Given the description of an element on the screen output the (x, y) to click on. 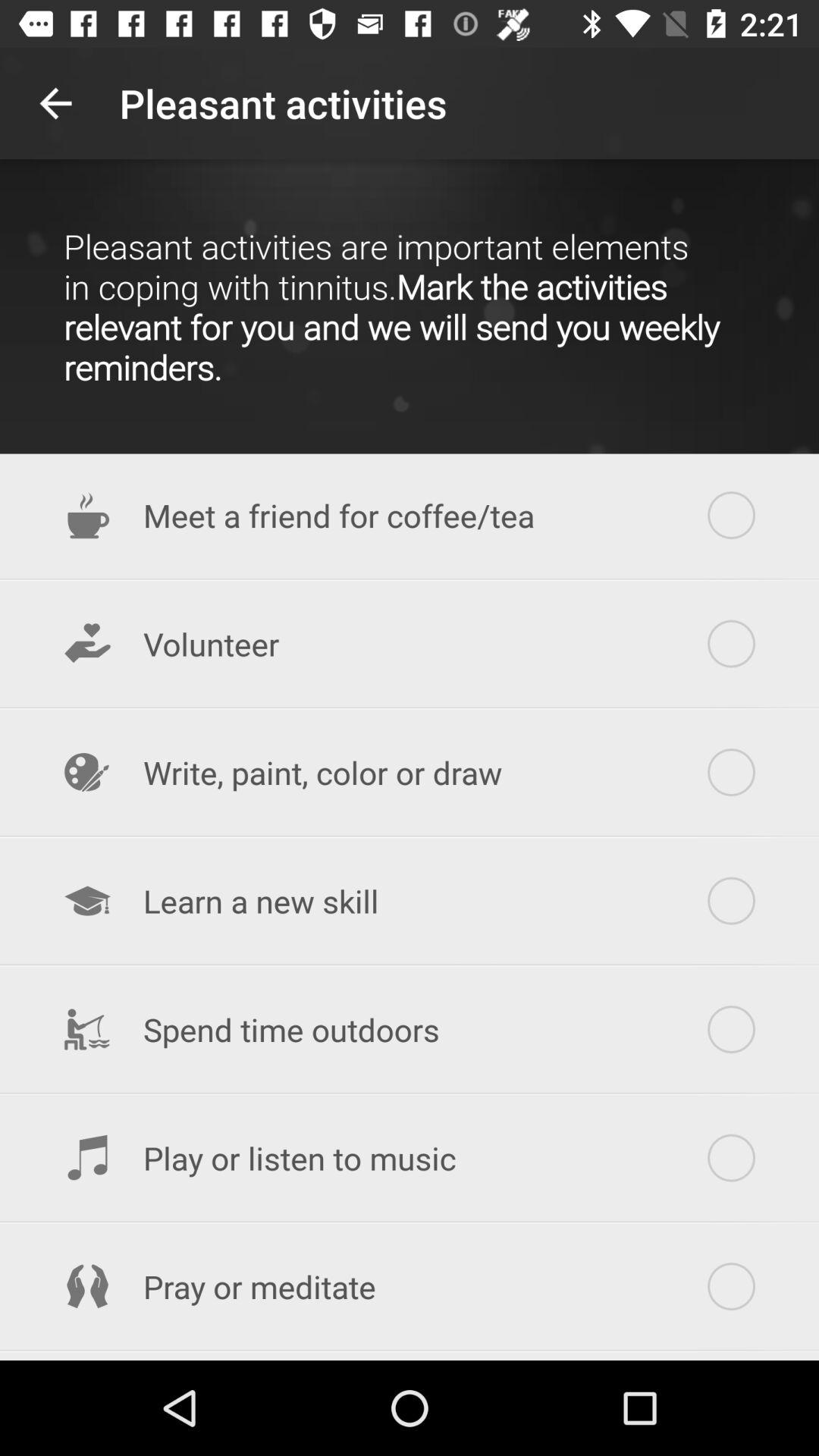
turn on the icon above the pray or meditate item (409, 1157)
